Given the description of an element on the screen output the (x, y) to click on. 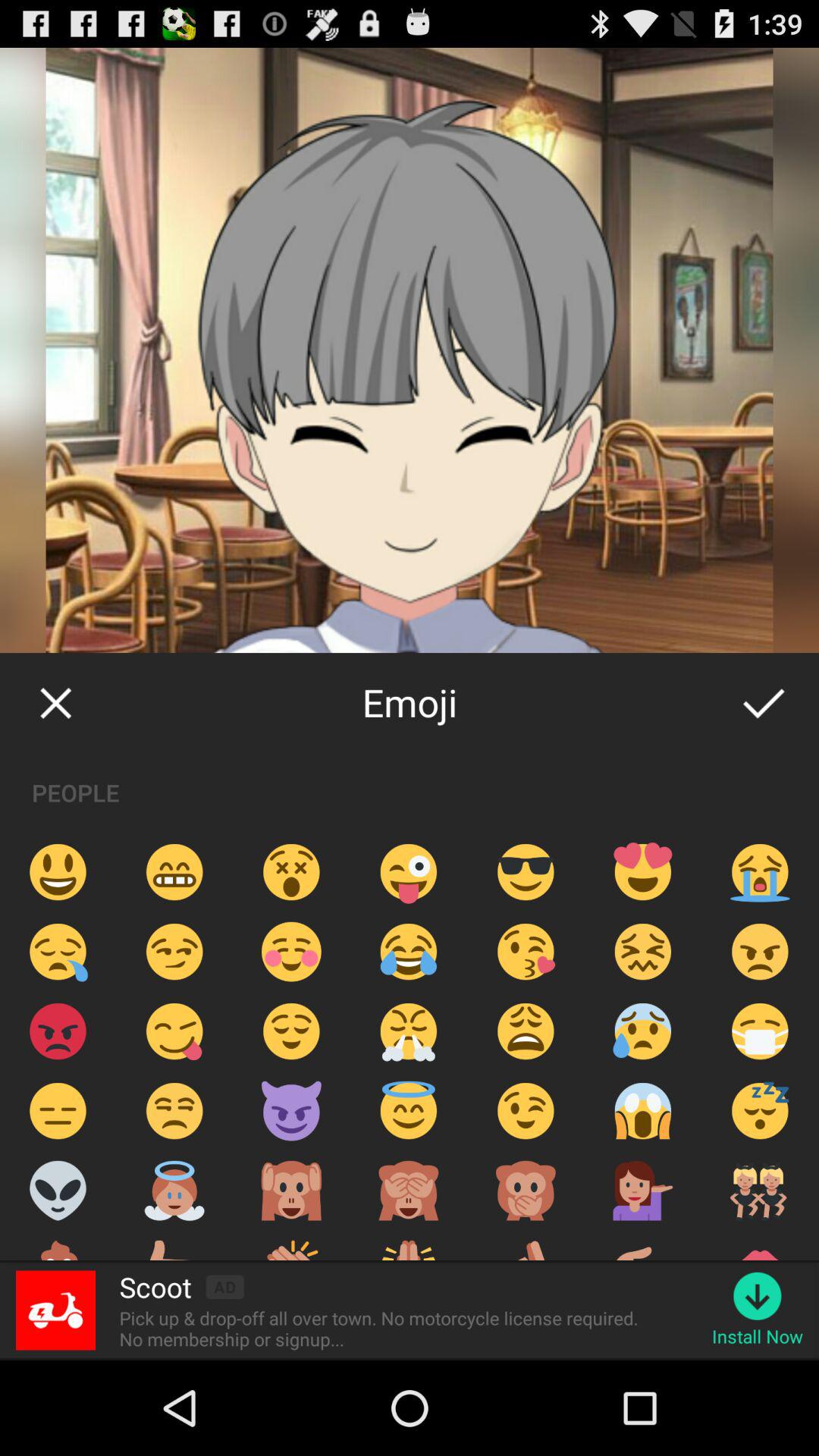
launch the item next to the emoji item (55, 702)
